Given the description of an element on the screen output the (x, y) to click on. 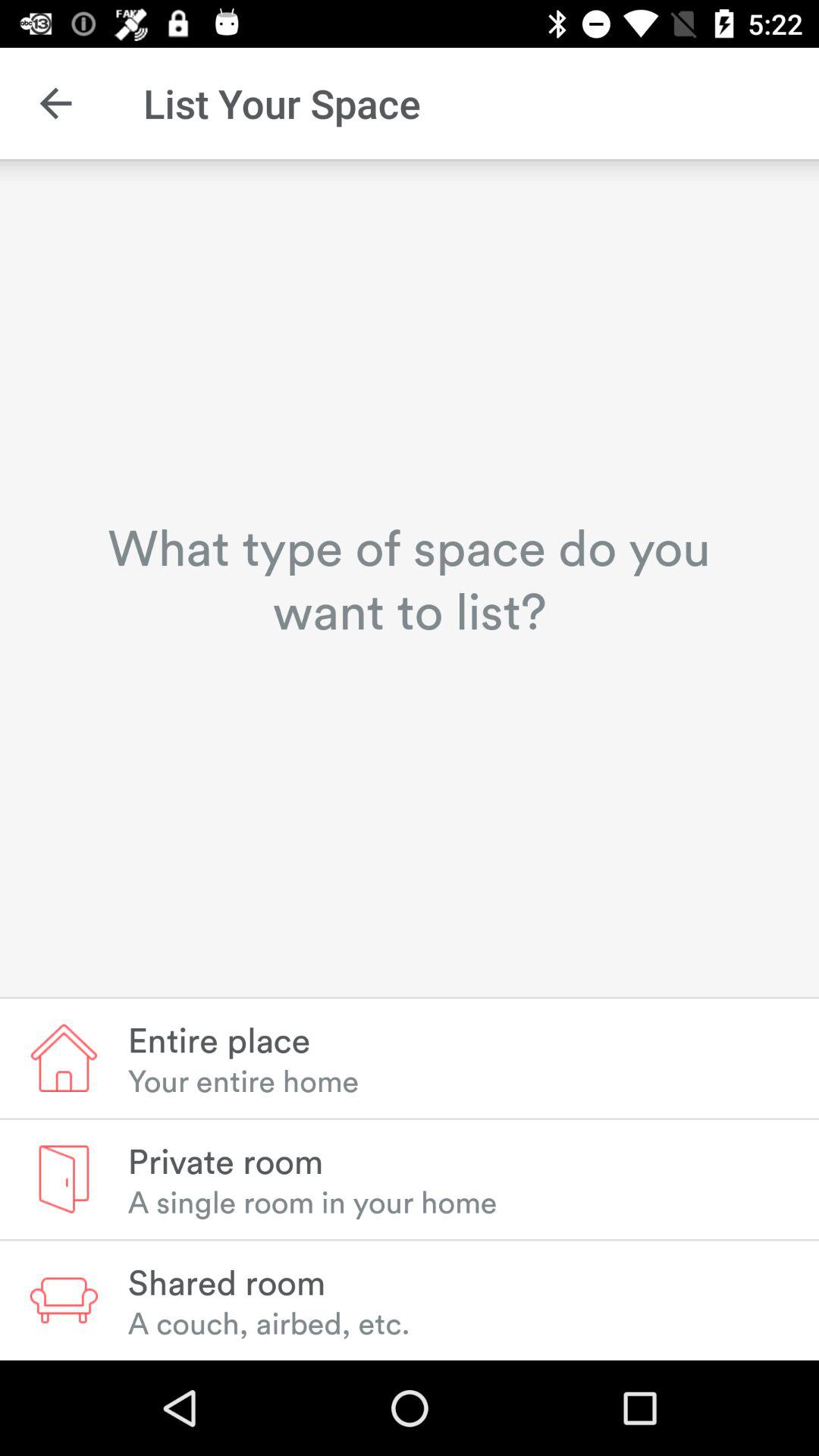
select the icon at the top left corner (55, 103)
